Given the description of an element on the screen output the (x, y) to click on. 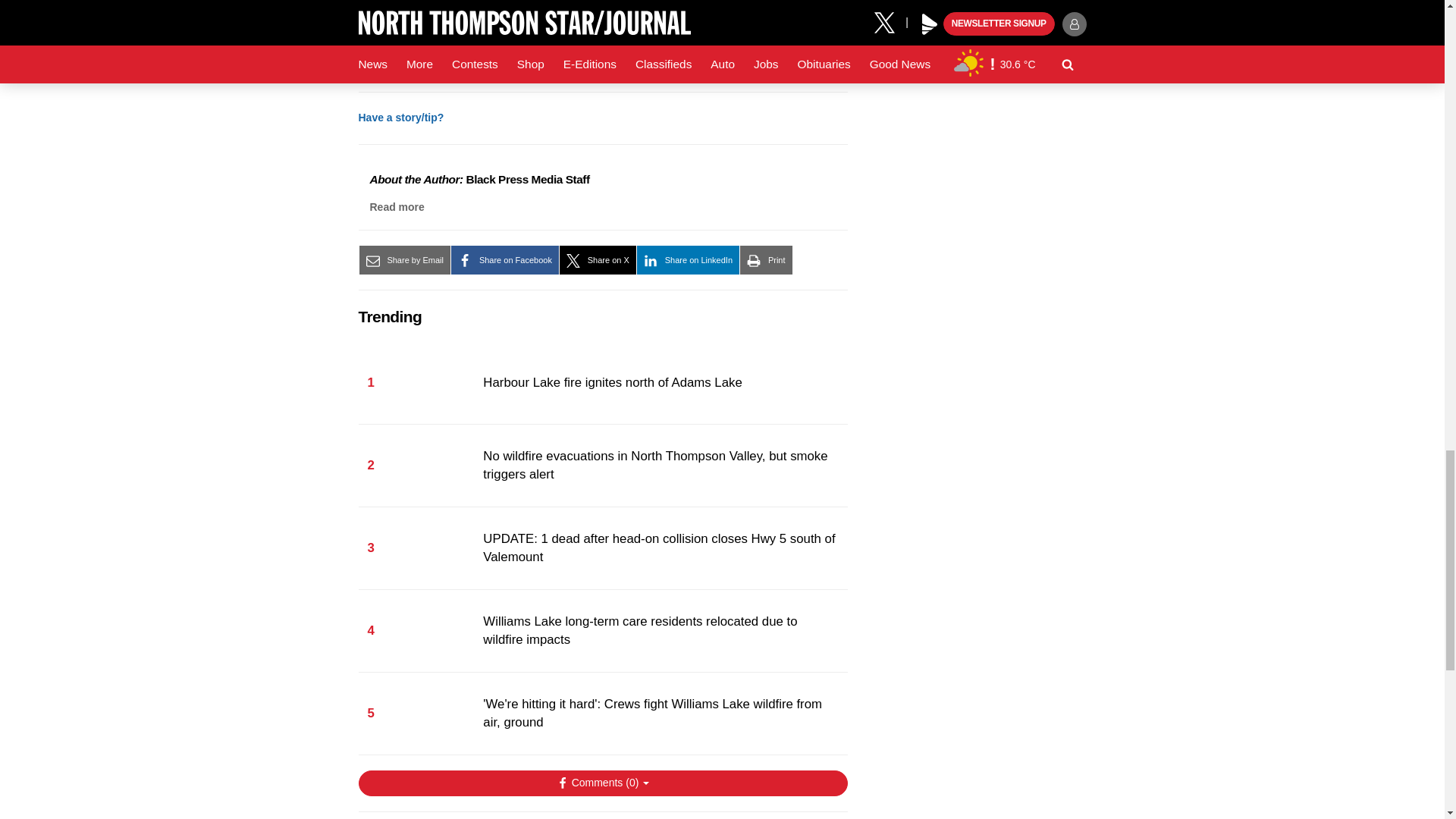
Show Comments (602, 783)
